Given the description of an element on the screen output the (x, y) to click on. 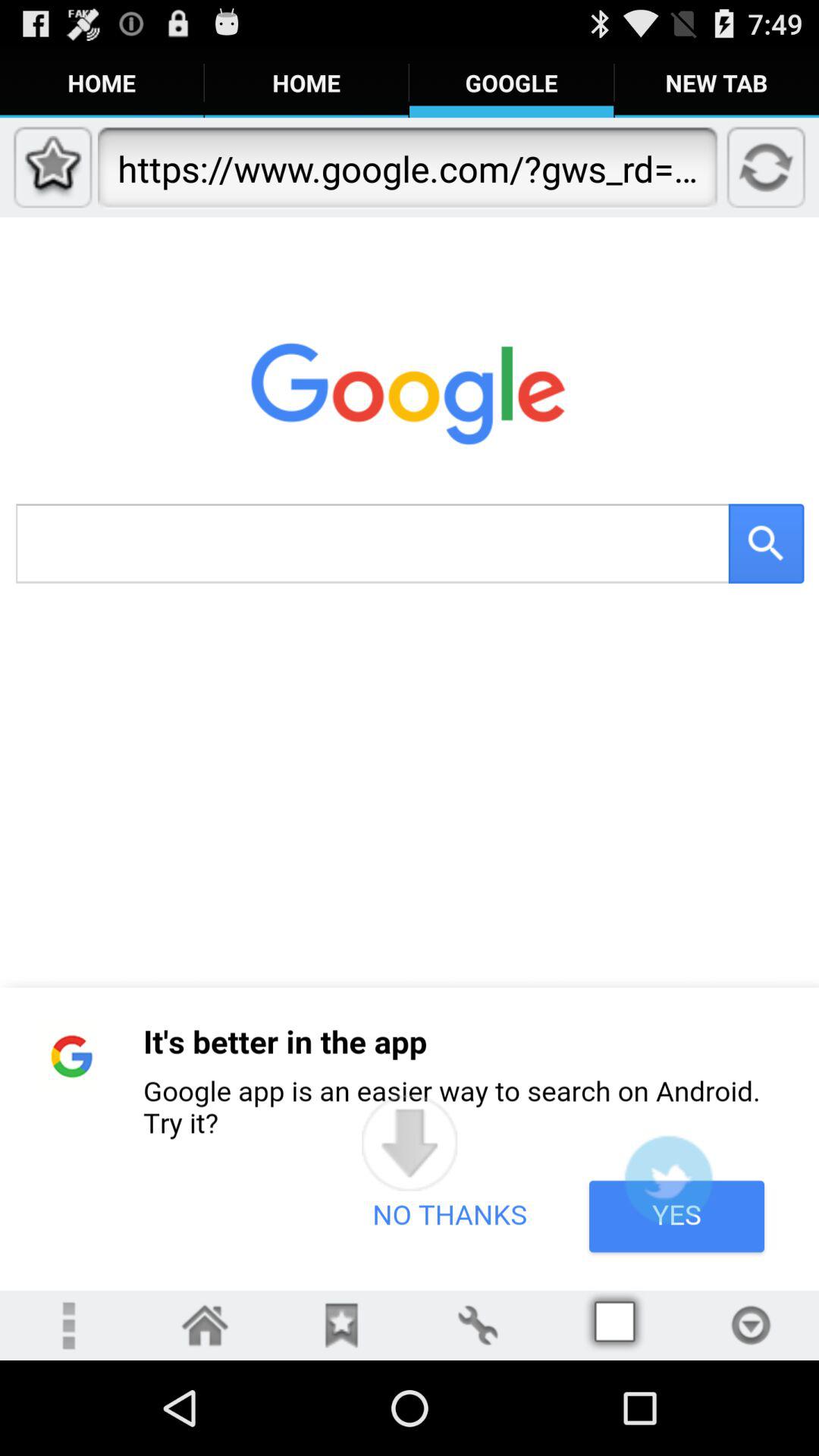
menu pega (750, 1325)
